Given the description of an element on the screen output the (x, y) to click on. 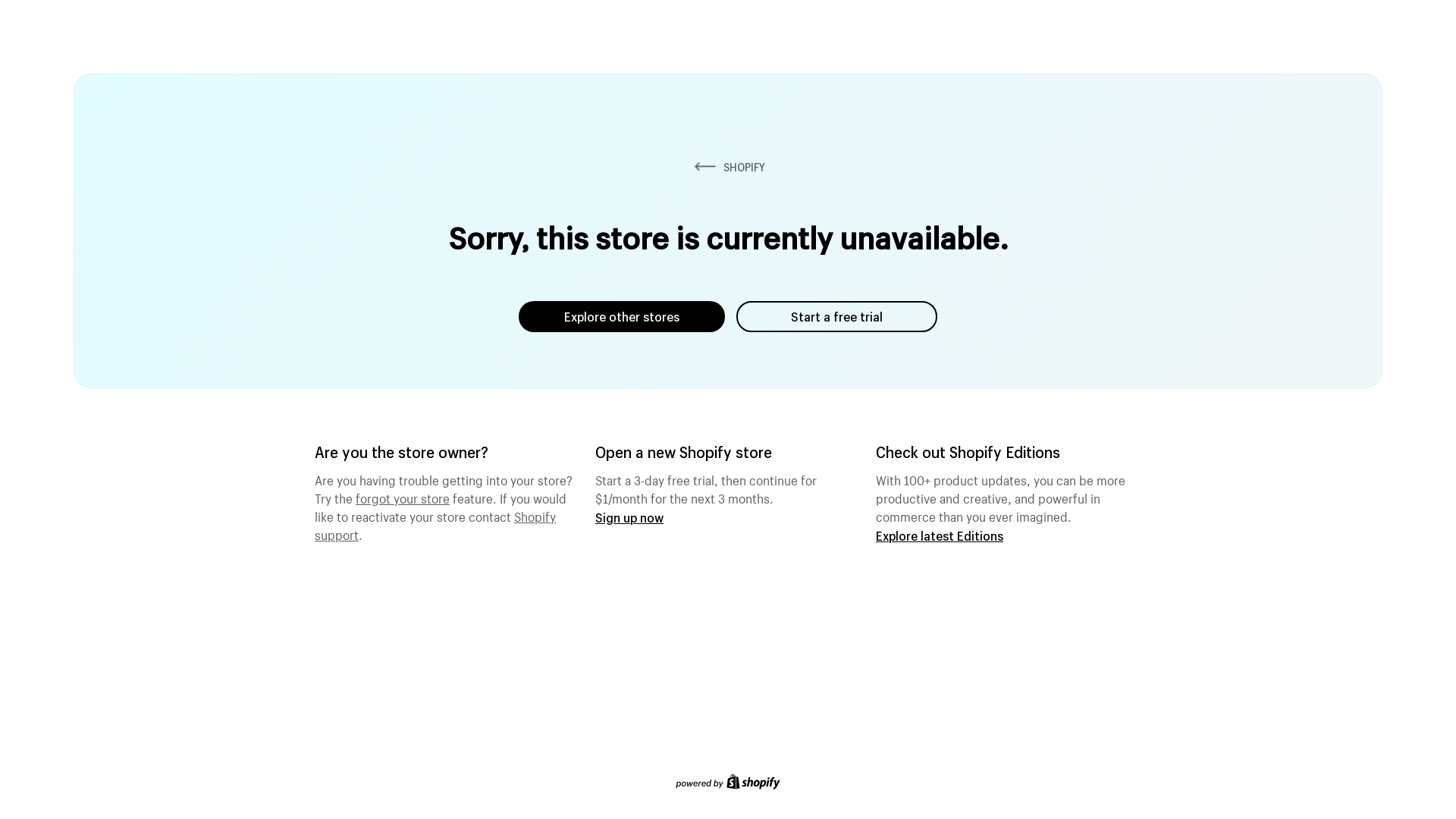
SHOPIFY Element type: text (727, 167)
Explore latest Editions Element type: text (939, 535)
Explore other stores Element type: text (621, 316)
Sign up now Element type: text (629, 517)
forgot your store Element type: text (402, 496)
Start a free trial Element type: text (836, 316)
Shopify support Element type: text (434, 523)
